Given the description of an element on the screen output the (x, y) to click on. 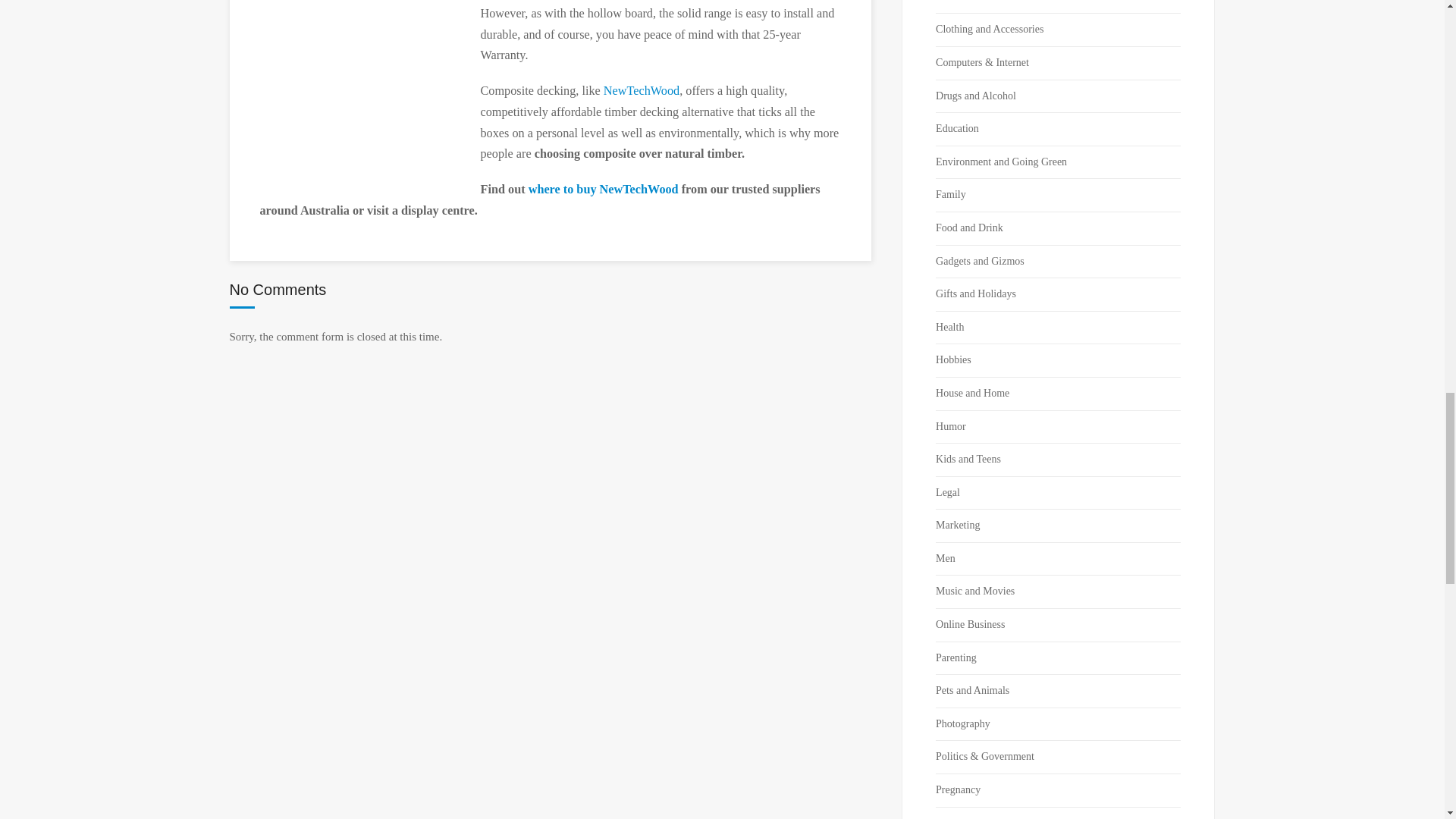
NewTechWood (641, 90)
where to buy NewTechWood (603, 189)
